Given the description of an element on the screen output the (x, y) to click on. 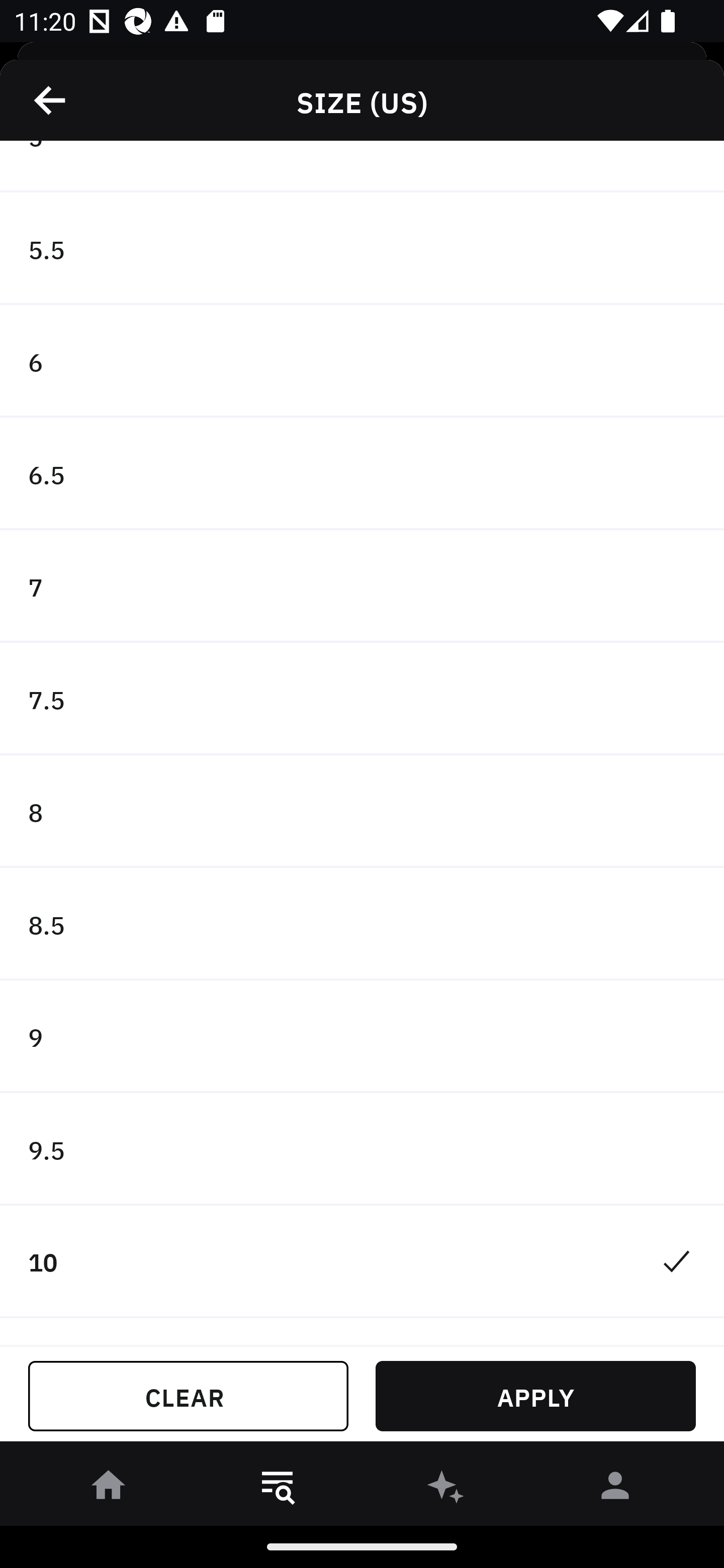
 (50, 100)
5.5 (362, 248)
6 (362, 361)
6.5 (362, 473)
7 (362, 585)
7.5 (362, 698)
8 (362, 811)
8.5 (362, 924)
9 (362, 1036)
9.5 (362, 1148)
10  (362, 1261)
CLEAR  (188, 1396)
APPLY (535, 1396)
󰋜 (108, 1488)
󱎸 (277, 1488)
󰫢 (446, 1488)
󰀄 (615, 1488)
